Given the description of an element on the screen output the (x, y) to click on. 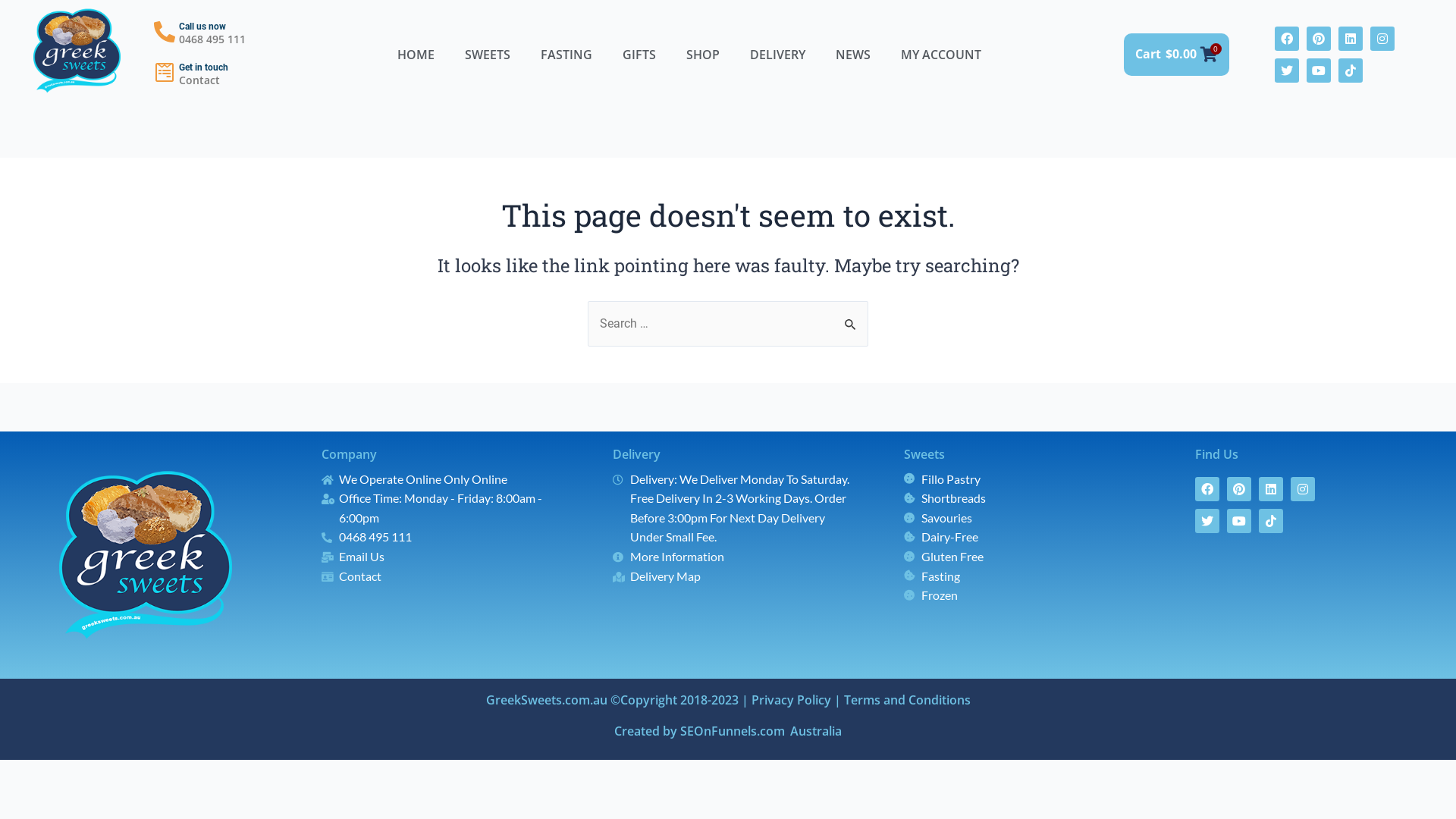
Search Element type: text (851, 316)
Gluten Free Element type: text (1026, 556)
Contact Element type: text (444, 576)
Privacy Policy Element type: text (790, 699)
More Information Element type: text (735, 556)
Savouries Element type: text (1026, 517)
SEOnFunnels.com Element type: text (732, 730)
GIFTS Element type: text (639, 54)
Fasting Element type: text (1026, 576)
0468 495 111 Element type: text (444, 536)
Delivery Map Element type: text (735, 576)
Frozen Element type: text (1026, 595)
Fillo Pastry Element type: text (1026, 479)
MY ACCOUNT Element type: text (940, 54)
HOME Element type: text (415, 54)
Get in touch Element type: text (203, 67)
Terms and Conditions Element type: text (906, 699)
Dairy-Free Element type: text (1026, 536)
Shortbreads Element type: text (1026, 498)
SHOP Element type: text (702, 54)
SWEETS Element type: text (487, 54)
Call us now Element type: text (201, 26)
FASTING Element type: text (566, 54)
NEWS Element type: text (852, 54)
Cart $0.00
0 Element type: text (1176, 54)
Email Us Element type: text (444, 556)
DELIVERY Element type: text (777, 54)
